Given the description of an element on the screen output the (x, y) to click on. 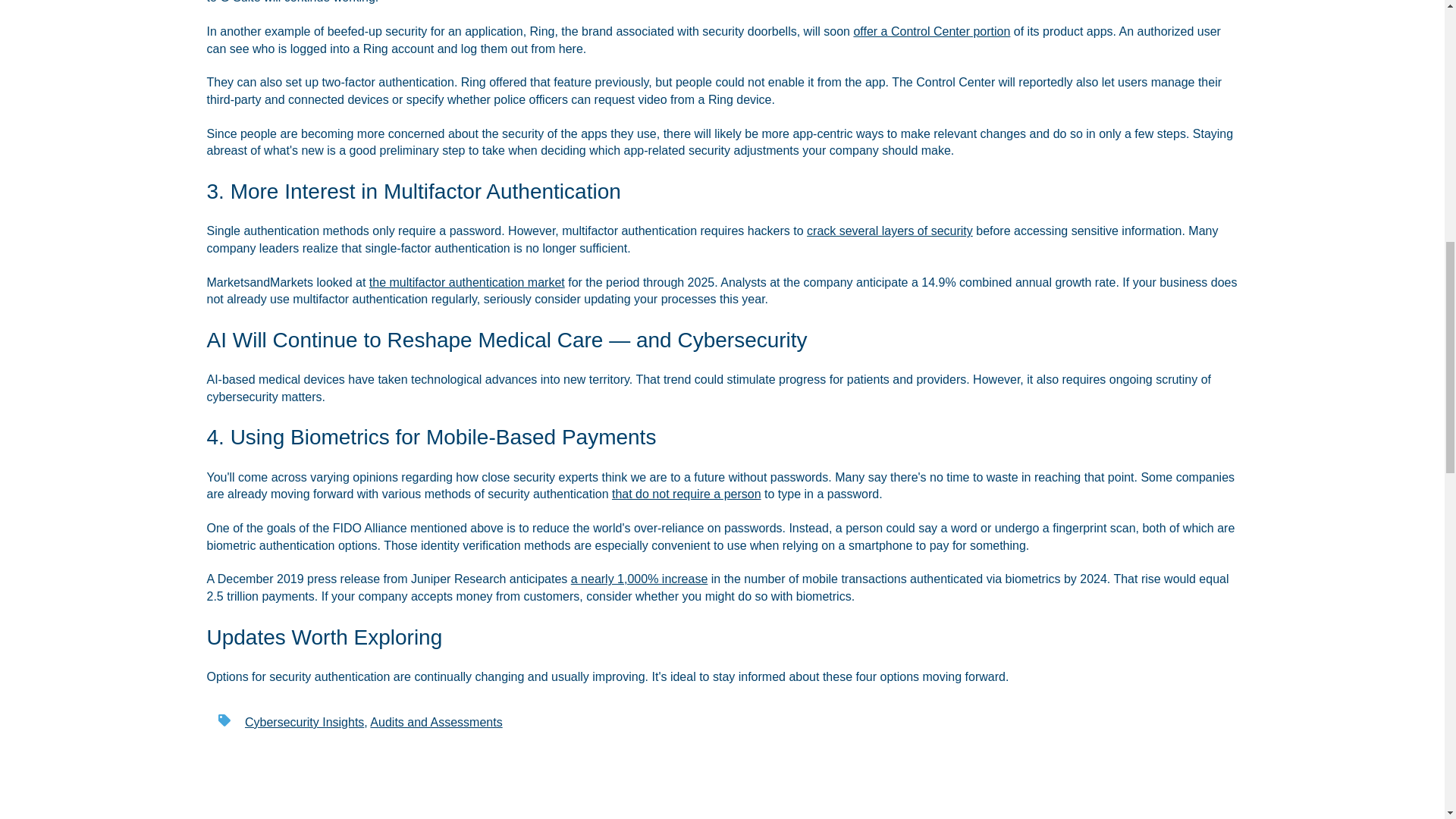
crack several layers of security (889, 230)
offer a Control Center portion (931, 31)
the multifactor authentication market (466, 282)
